Given the description of an element on the screen output the (x, y) to click on. 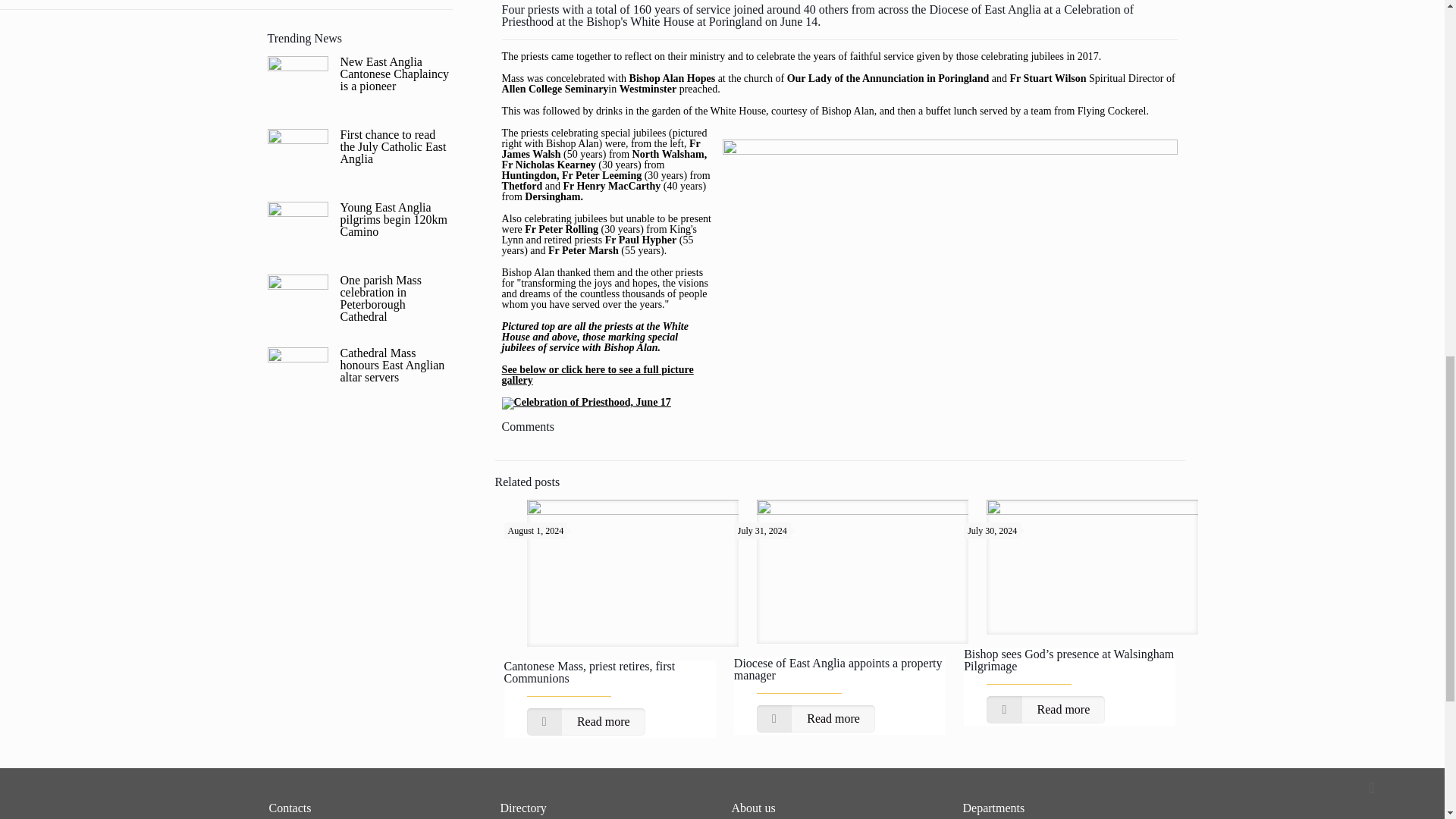
Celebration of Priesthood, June 17 (586, 401)
